Given the description of an element on the screen output the (x, y) to click on. 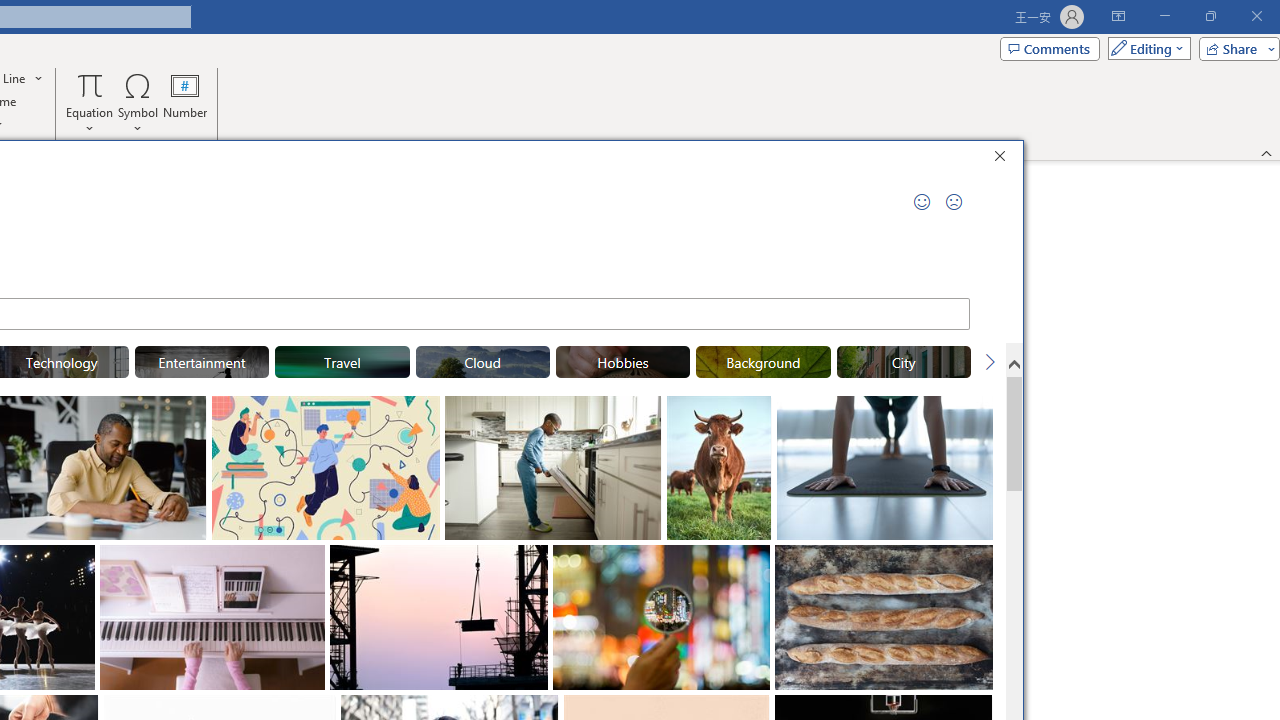
Close (1005, 158)
